Given the description of an element on the screen output the (x, y) to click on. 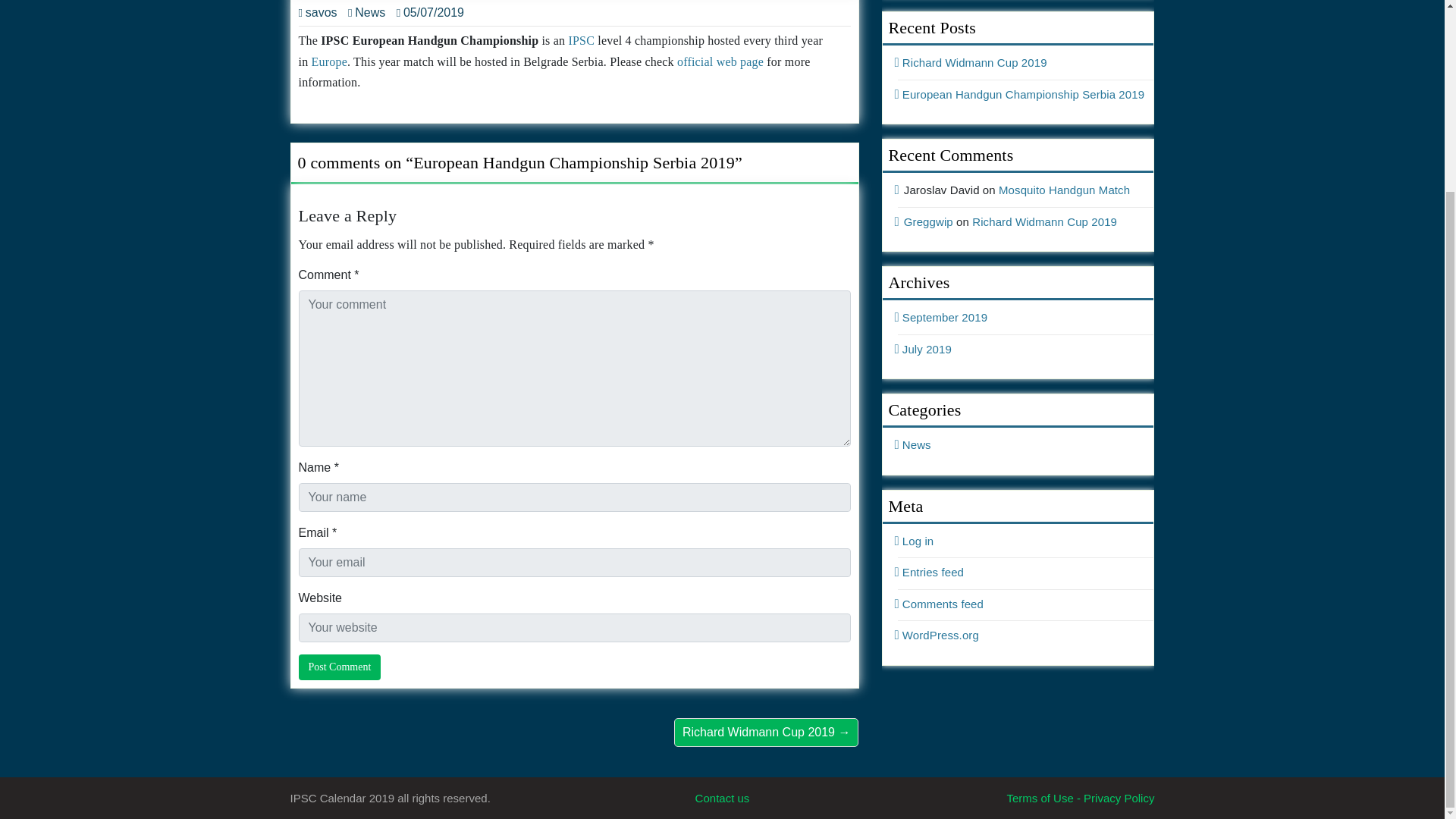
Entries feed (930, 571)
Mosquito Handgun Match (1063, 189)
News (366, 11)
Richard Widmann Cup 2019 (1044, 221)
Post Comment (339, 667)
July 2019 (925, 349)
WordPress.org (938, 634)
Log in (916, 540)
Greggwip (928, 221)
September 2019 (943, 317)
